Given the description of an element on the screen output the (x, y) to click on. 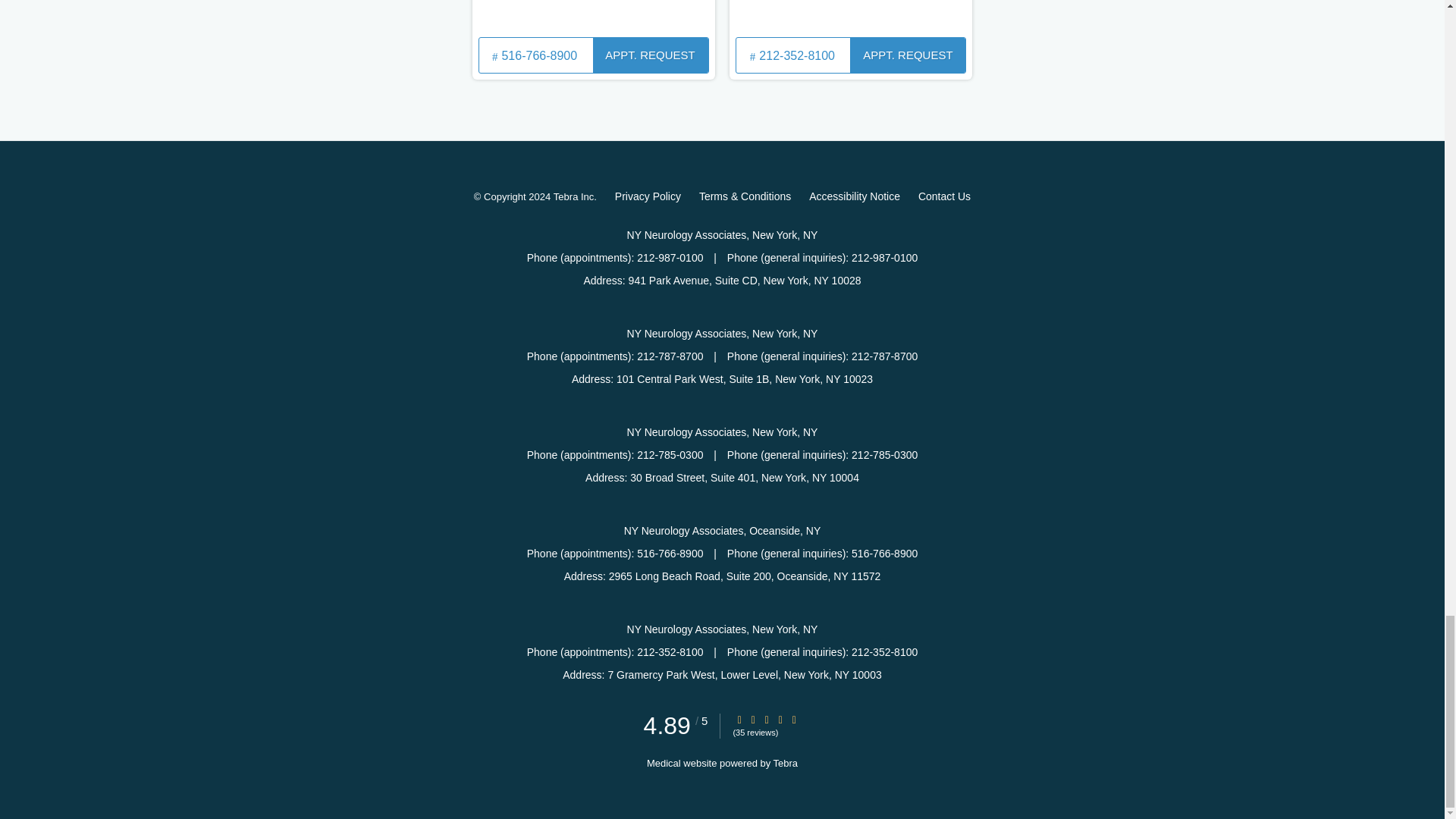
Star Rating (766, 719)
Map of Gramercy Park (850, 16)
Star Rating (753, 719)
Star Rating (738, 719)
Map of Long Island (592, 16)
